Given the description of an element on the screen output the (x, y) to click on. 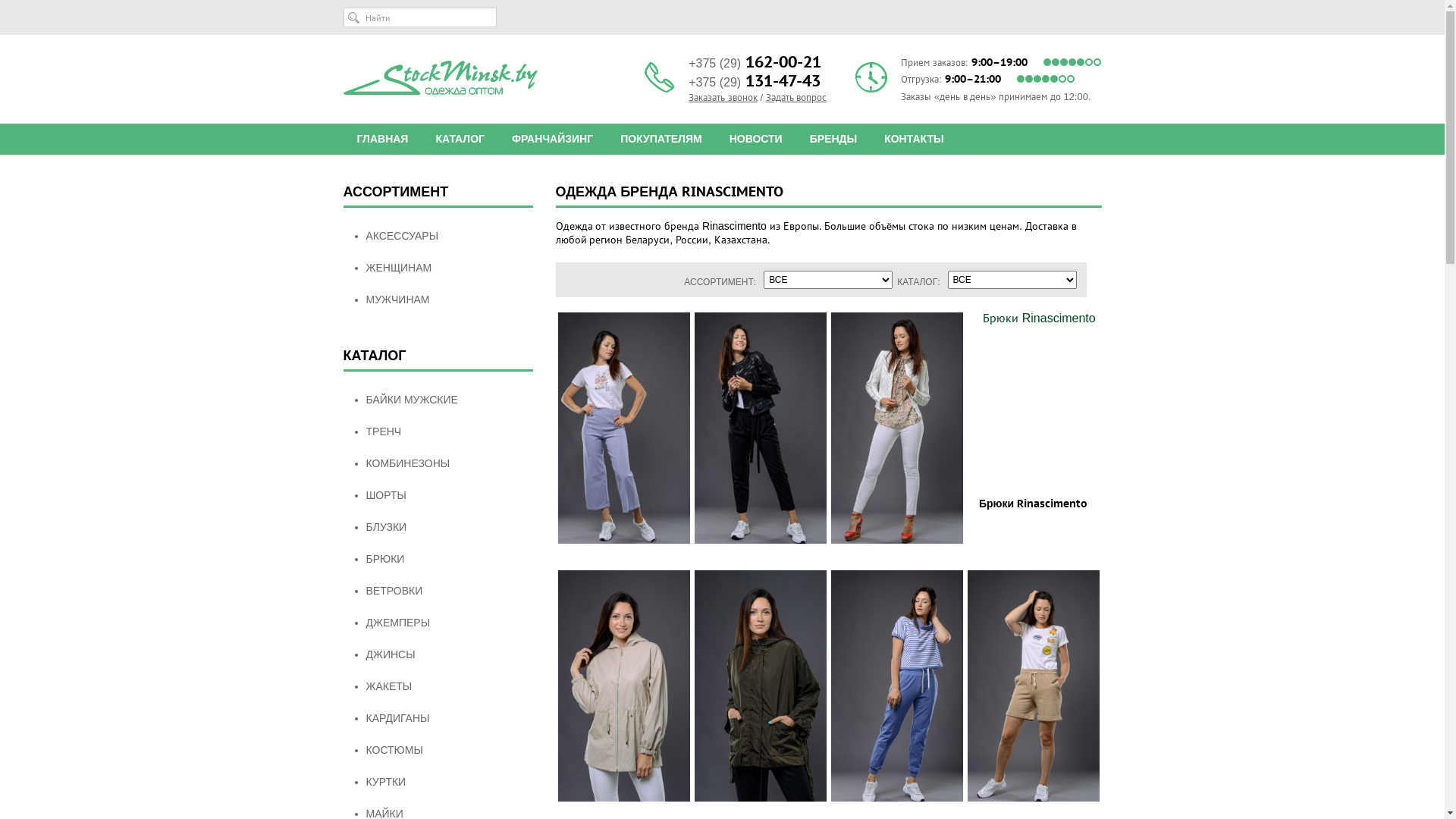
/ Element type: text (761, 97)
StockMinsk.by Element type: hover (439, 77)
